Given the description of an element on the screen output the (x, y) to click on. 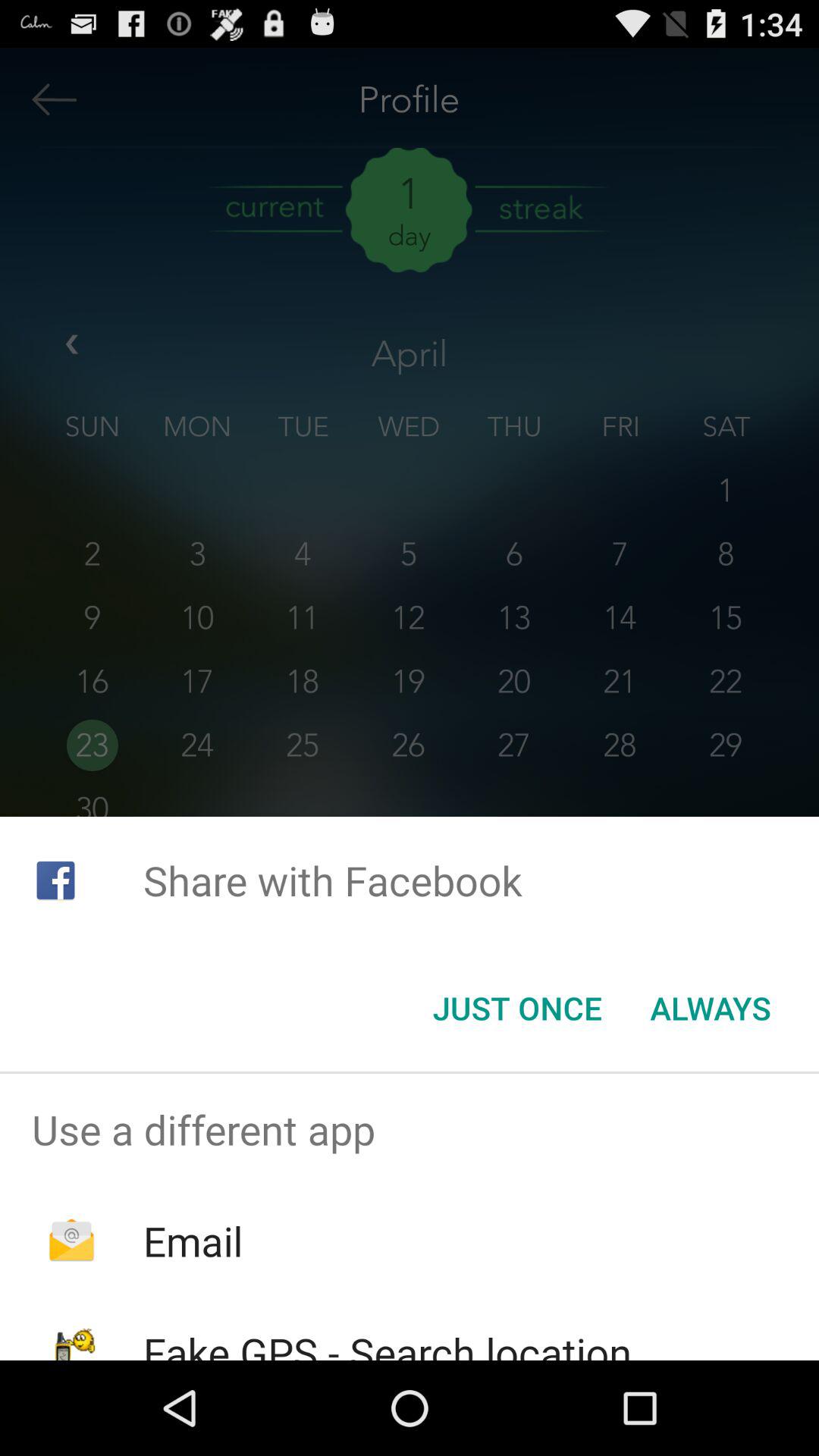
turn on icon above the fake gps search item (192, 1240)
